Given the description of an element on the screen output the (x, y) to click on. 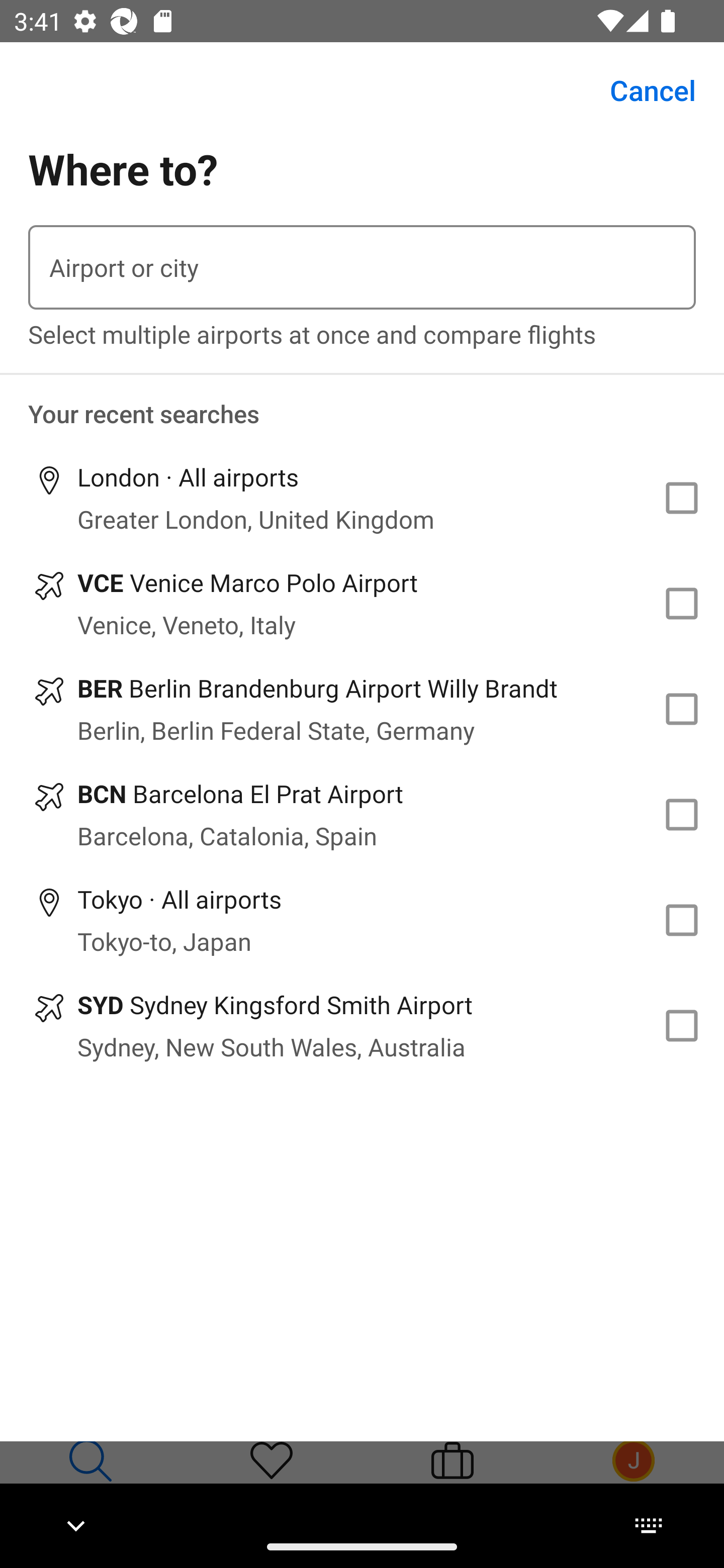
Cancel (641, 90)
Airport or city (361, 266)
Tokyo · All airports Tokyo-to, Japan (362, 920)
